Given the description of an element on the screen output the (x, y) to click on. 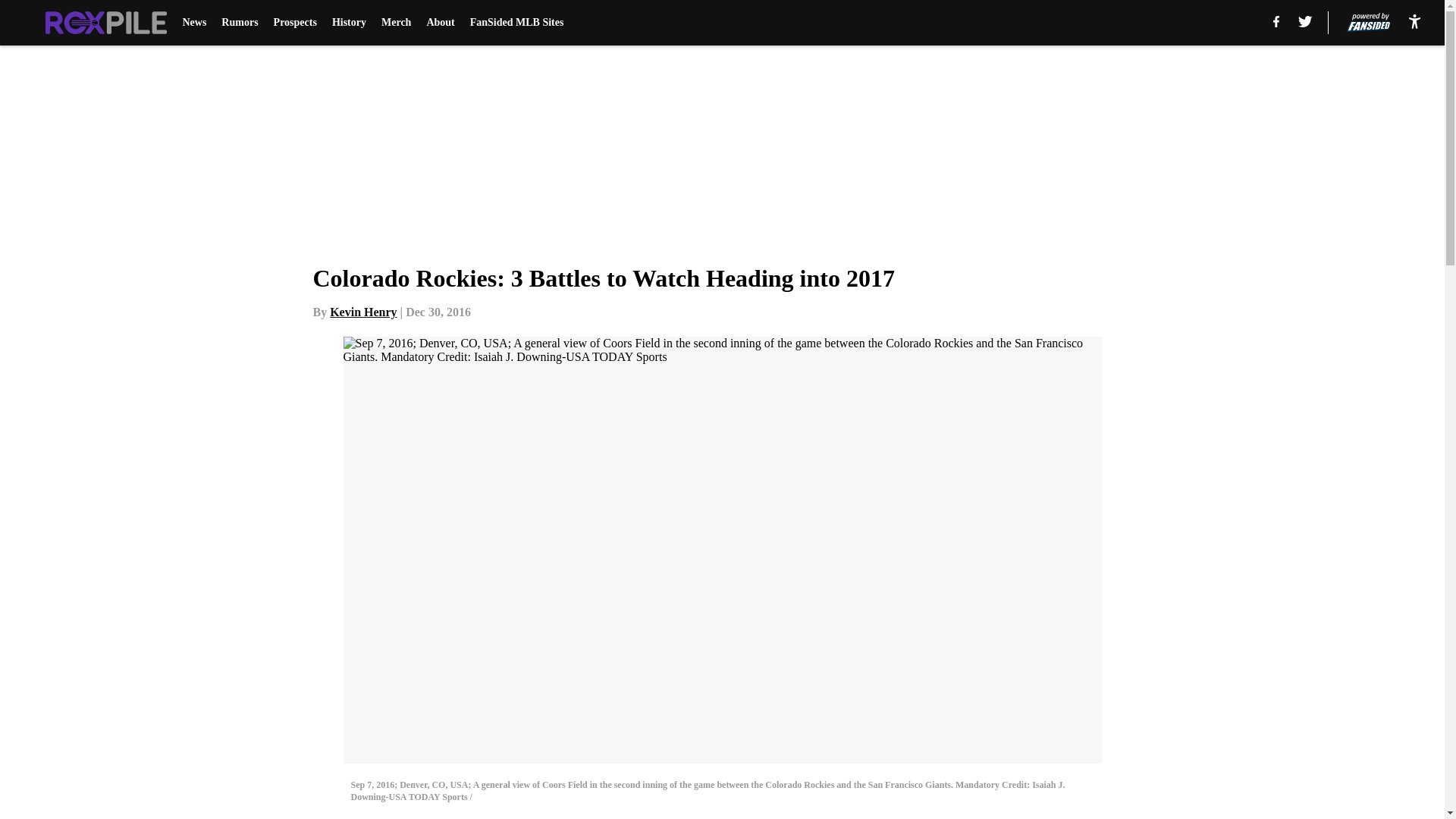
Prospects (295, 22)
Kevin Henry (363, 311)
News (194, 22)
FanSided MLB Sites (517, 22)
About (440, 22)
Merch (395, 22)
History (348, 22)
Rumors (239, 22)
